Given the description of an element on the screen output the (x, y) to click on. 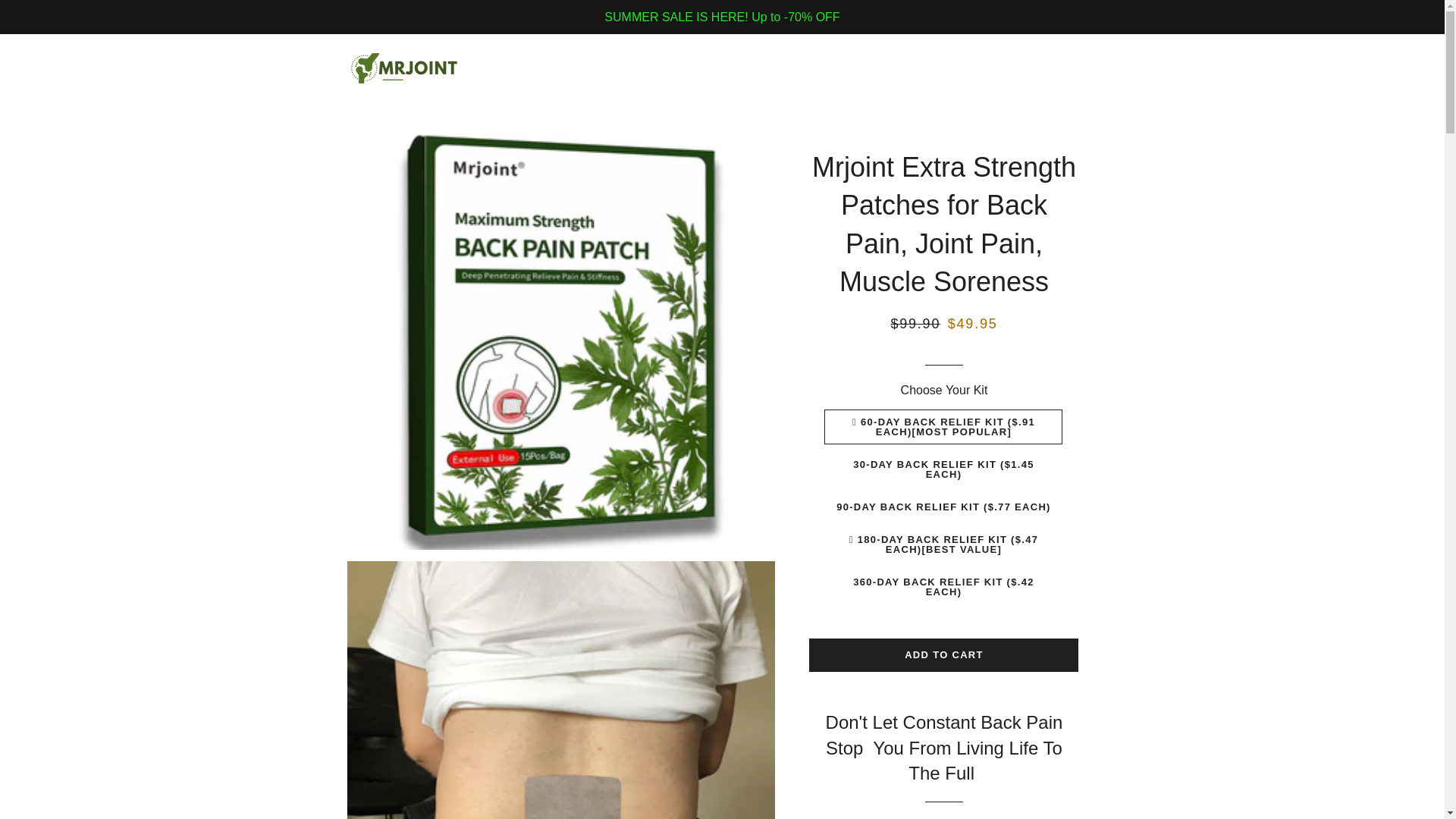
ADD TO CART (943, 654)
